Given the description of an element on the screen output the (x, y) to click on. 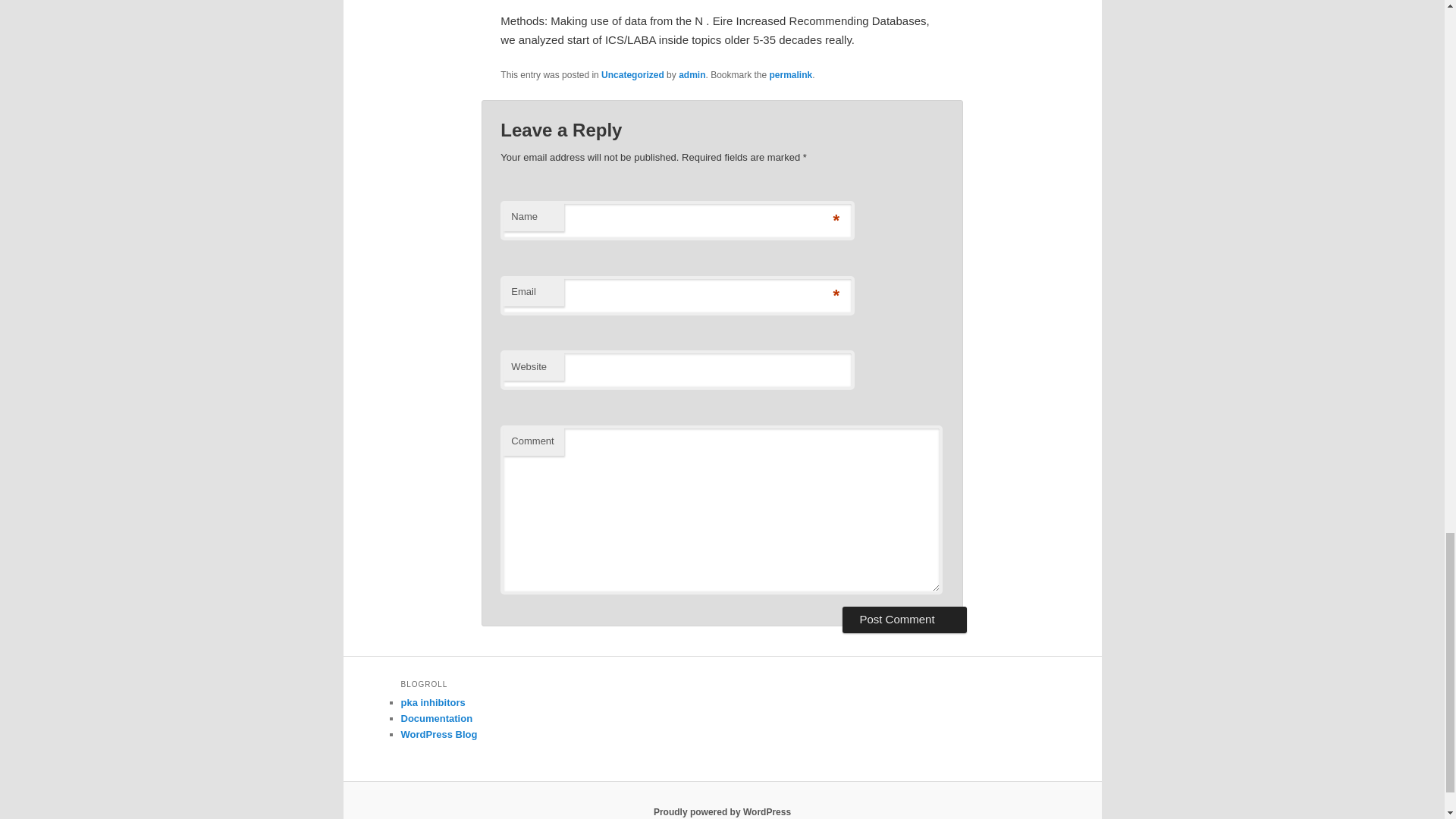
Uncategorized (632, 74)
Post Comment (904, 619)
pka inhibitors (432, 702)
Documentation (435, 717)
admin (691, 74)
View all posts in Uncategorized (632, 74)
Post Comment (904, 619)
WordPress Blog (438, 734)
permalink (791, 74)
Semantic Personal Publishing Platform (721, 811)
